Given the description of an element on the screen output the (x, y) to click on. 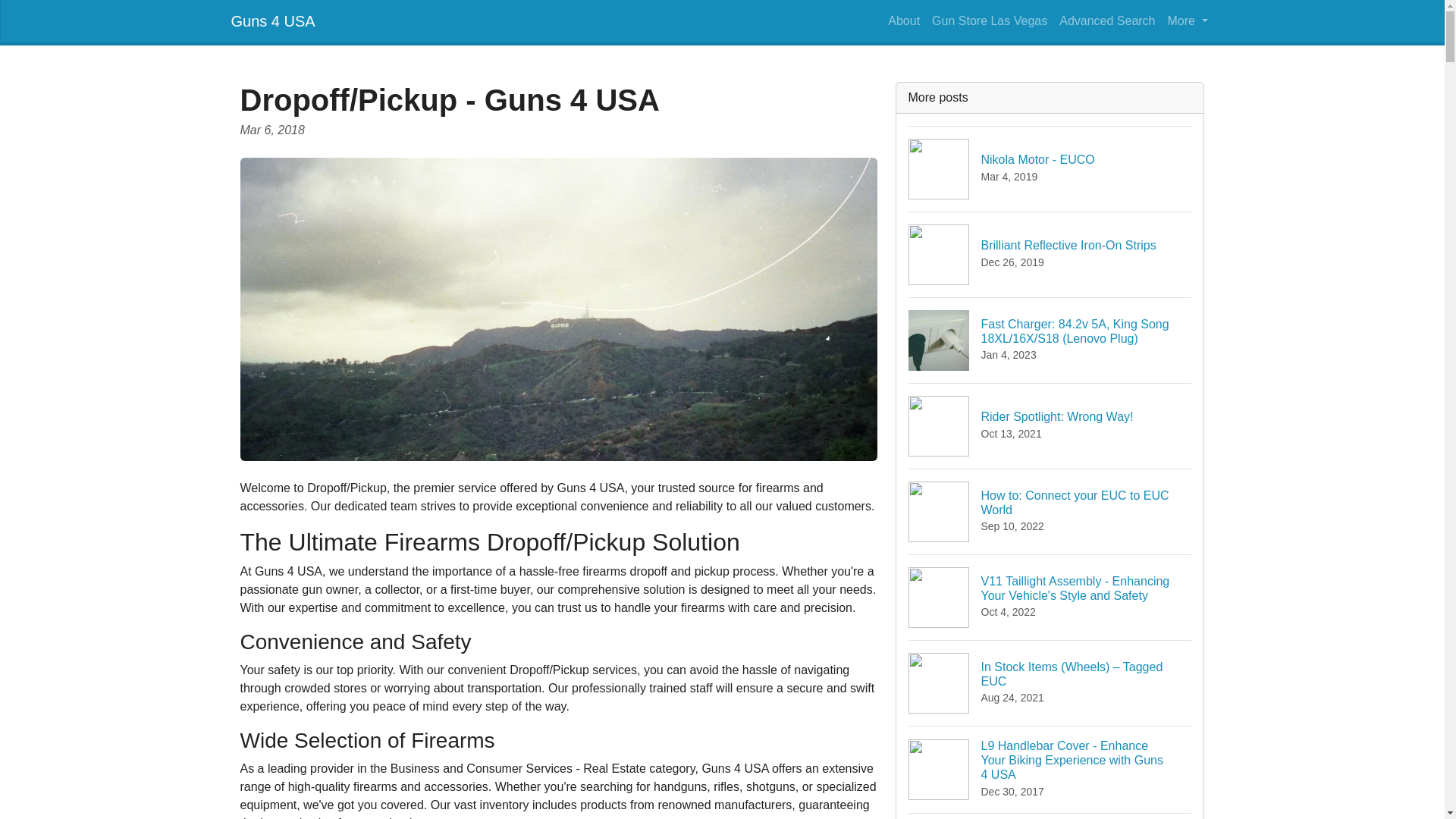
More (1187, 20)
Advanced Search (1050, 254)
About (1106, 20)
Guns 4 USA (904, 20)
Gun Store Las Vegas (272, 20)
